Given the description of an element on the screen output the (x, y) to click on. 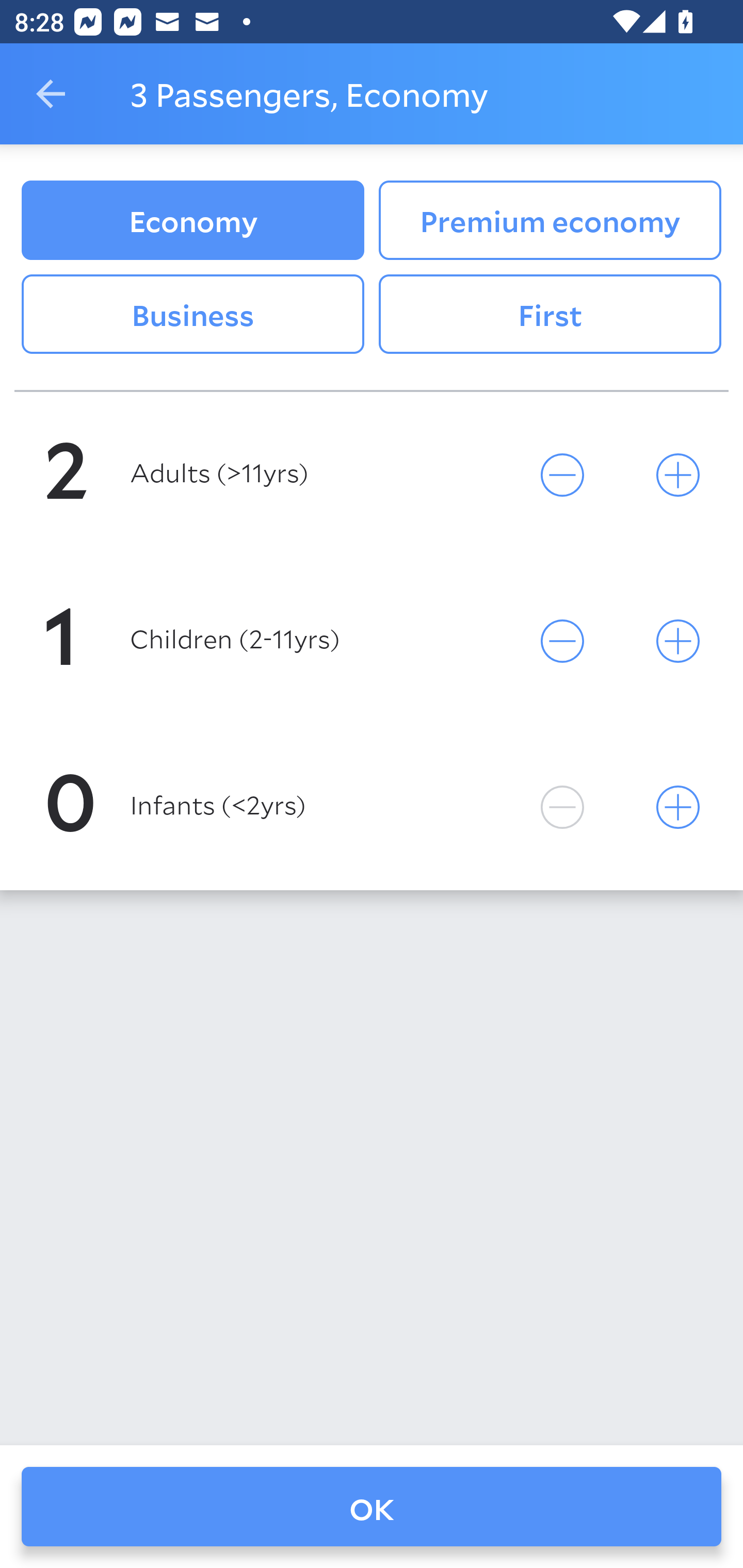
Navigate up (50, 93)
Economy (192, 220)
Premium economy (549, 220)
Business (192, 314)
First (549, 314)
OK (371, 1506)
